Given the description of an element on the screen output the (x, y) to click on. 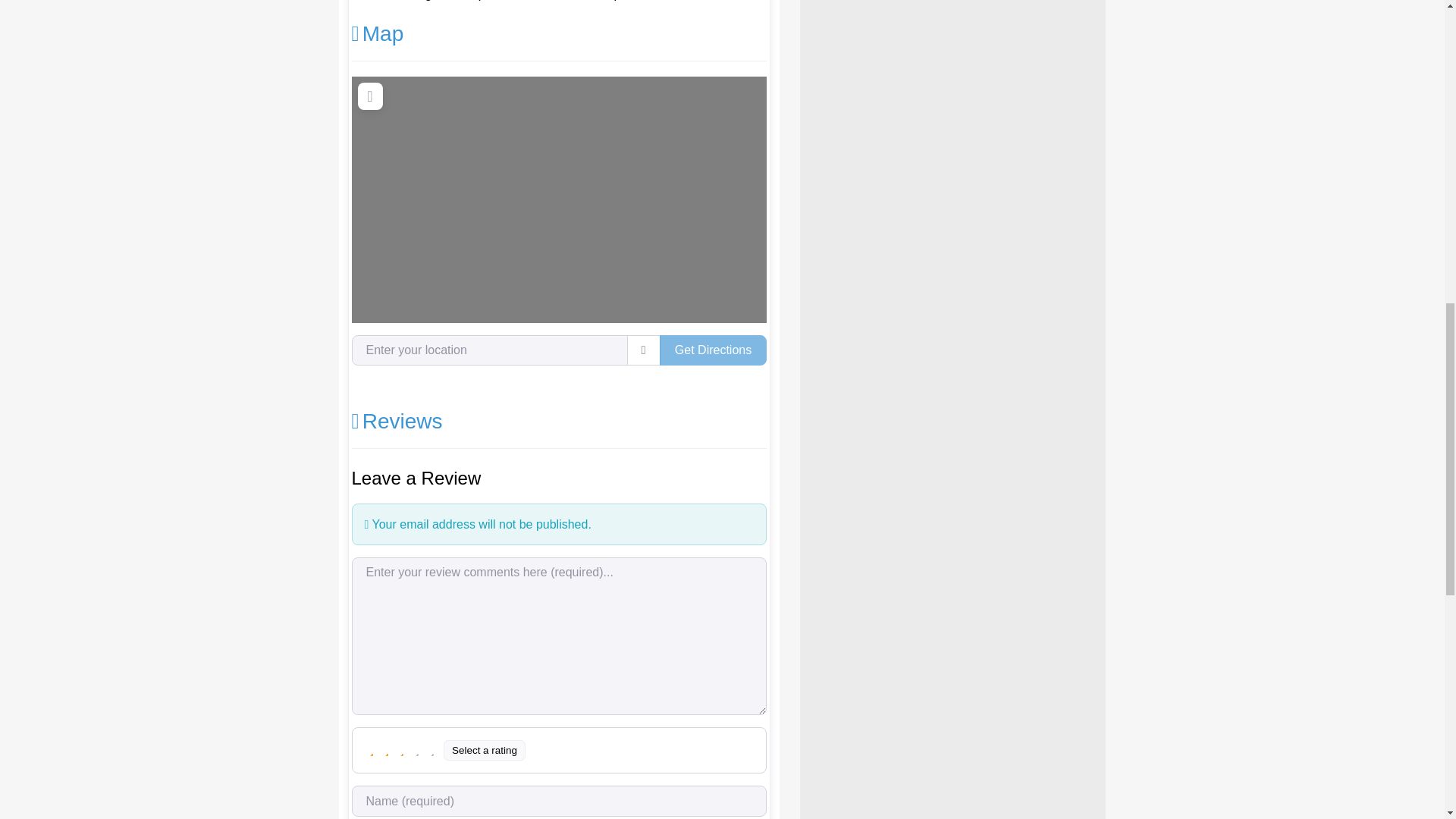
Poor (386, 749)
Average (401, 749)
Terrible (371, 749)
use my location (644, 349)
